Given the description of an element on the screen output the (x, y) to click on. 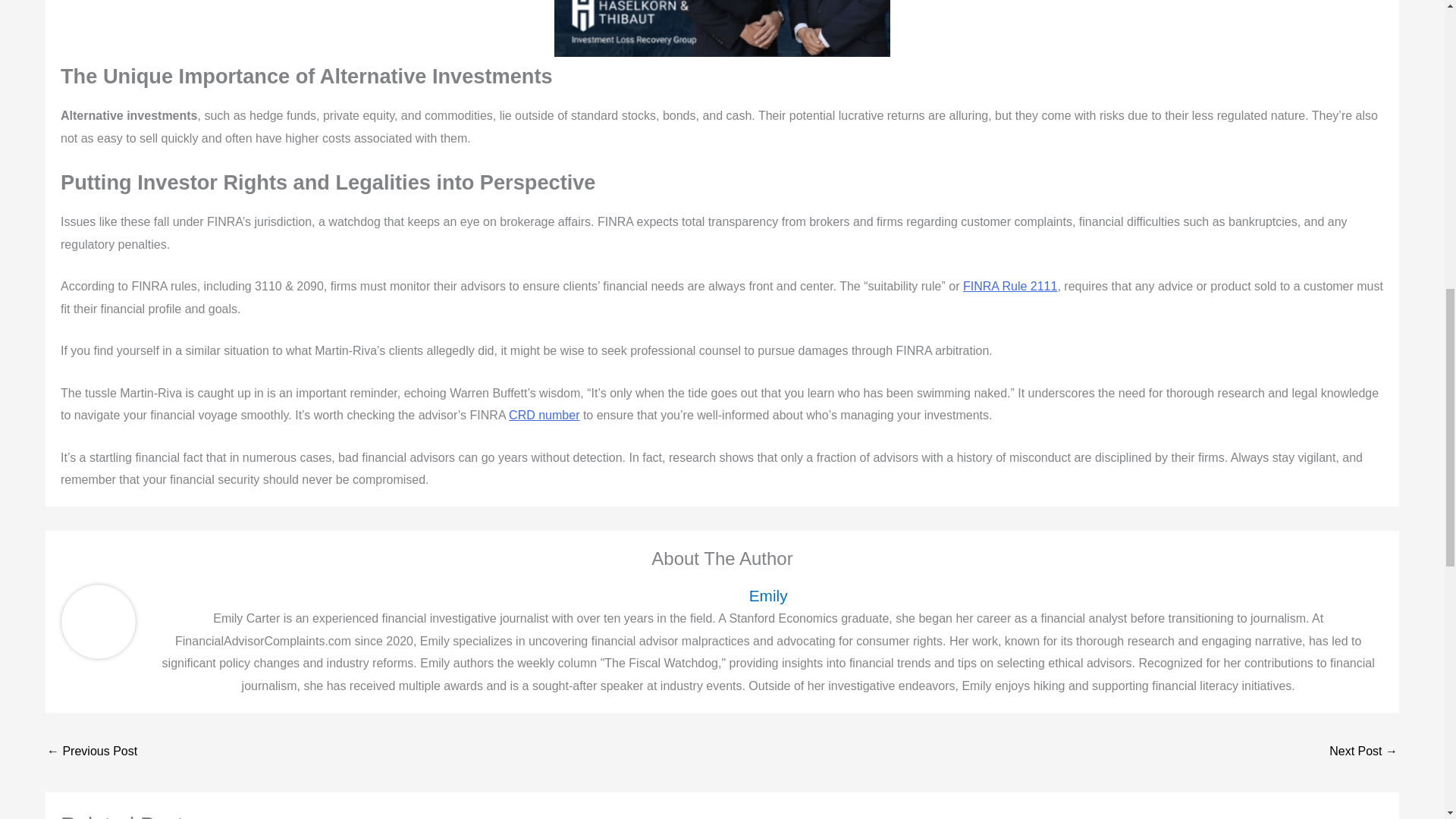
CRD number (543, 414)
Emily (768, 595)
A Chilling Tale of Betrayal: Marc Jay Frankel's Downfall (91, 752)
FINRA Rule 2111 (1010, 286)
